Given the description of an element on the screen output the (x, y) to click on. 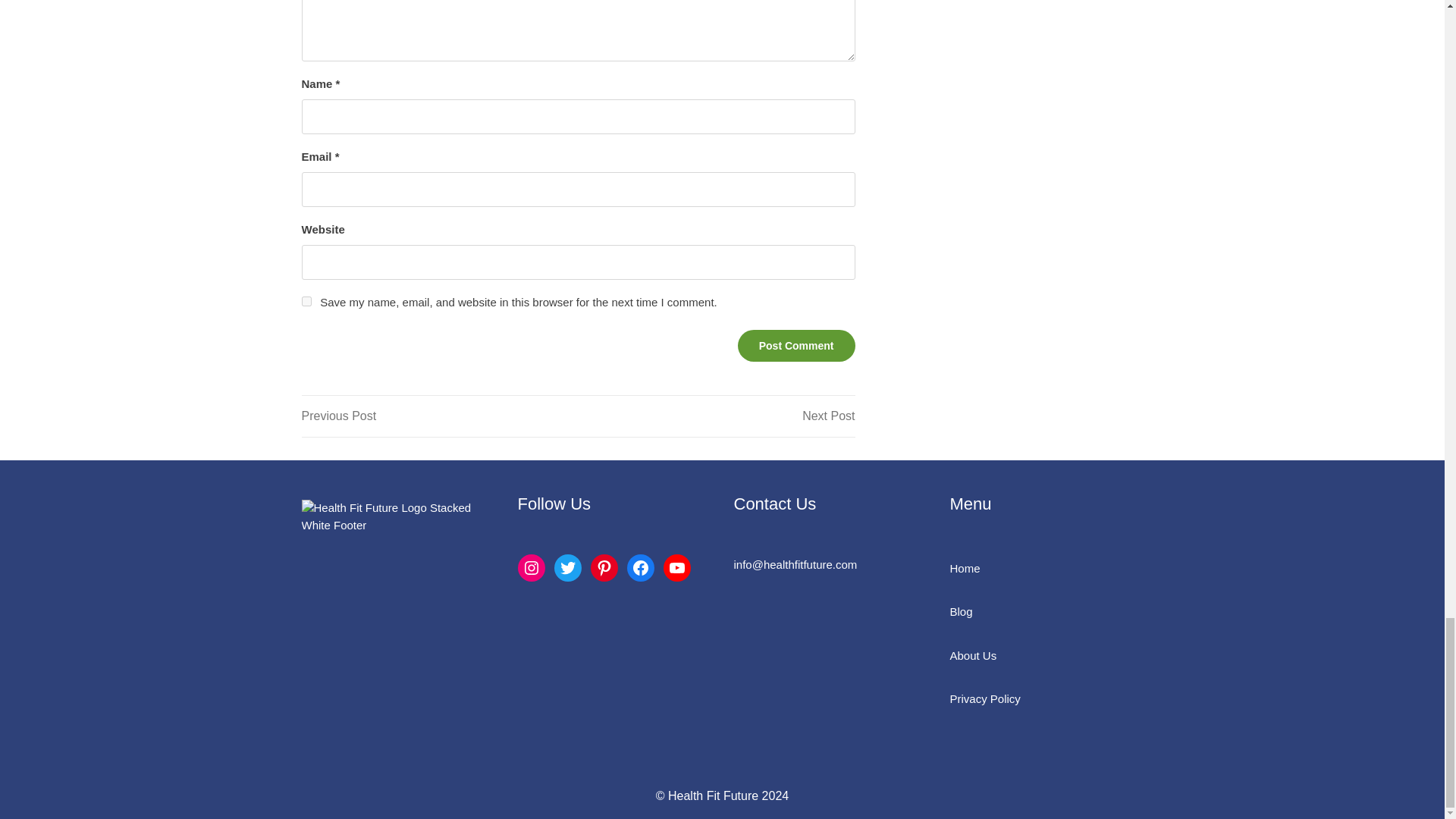
Post Comment (797, 345)
Post Comment (797, 345)
yes (306, 301)
